Given the description of an element on the screen output the (x, y) to click on. 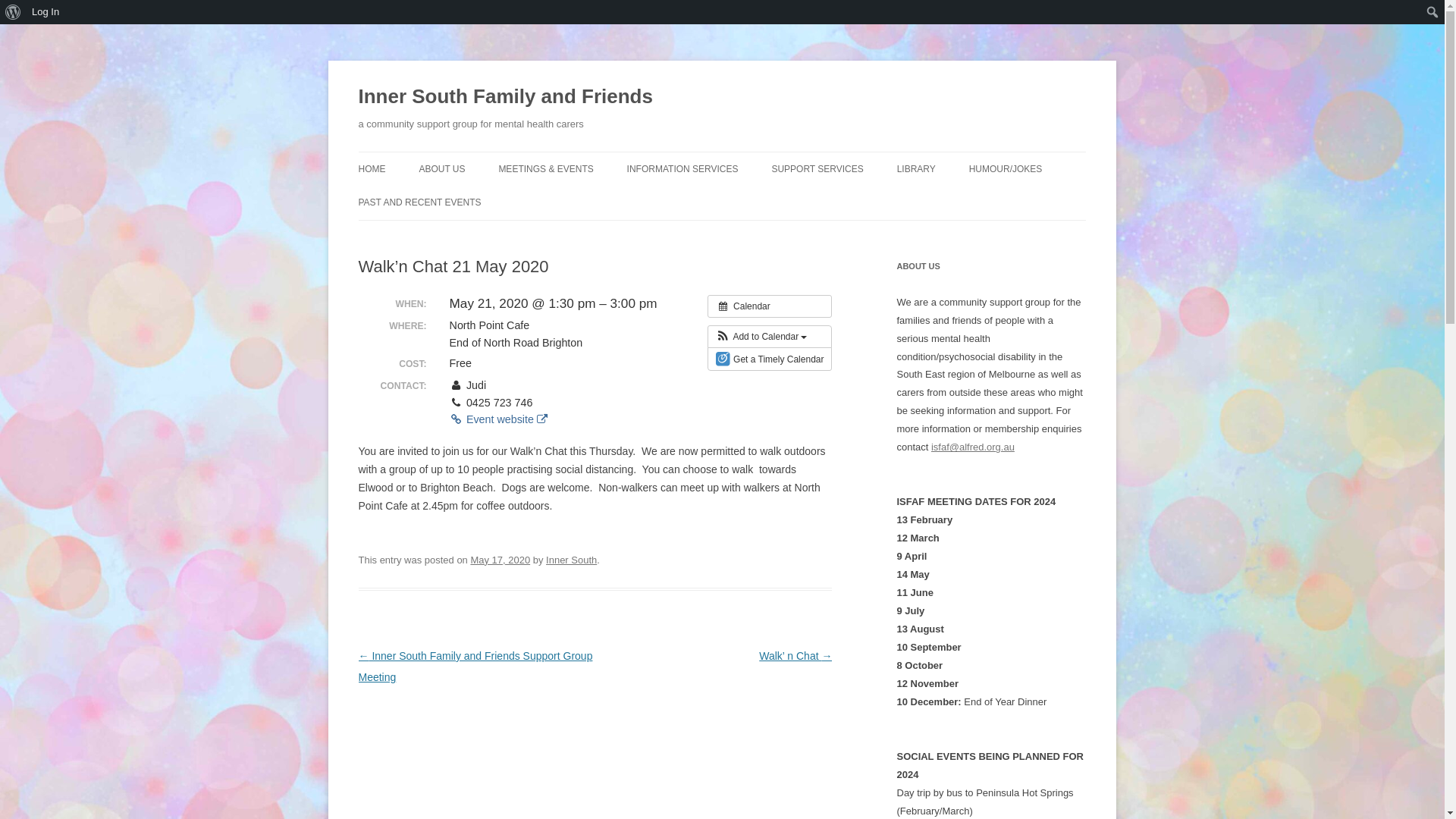
ABOUT US (441, 168)
Inner South Family and Friends (505, 96)
RESOURCES (702, 201)
View all events (769, 305)
PAST AND RECENT EVENTS (419, 202)
Log In (45, 12)
LIBRARY (916, 168)
View all posts by Inner South (571, 559)
Search (16, 12)
